Given the description of an element on the screen output the (x, y) to click on. 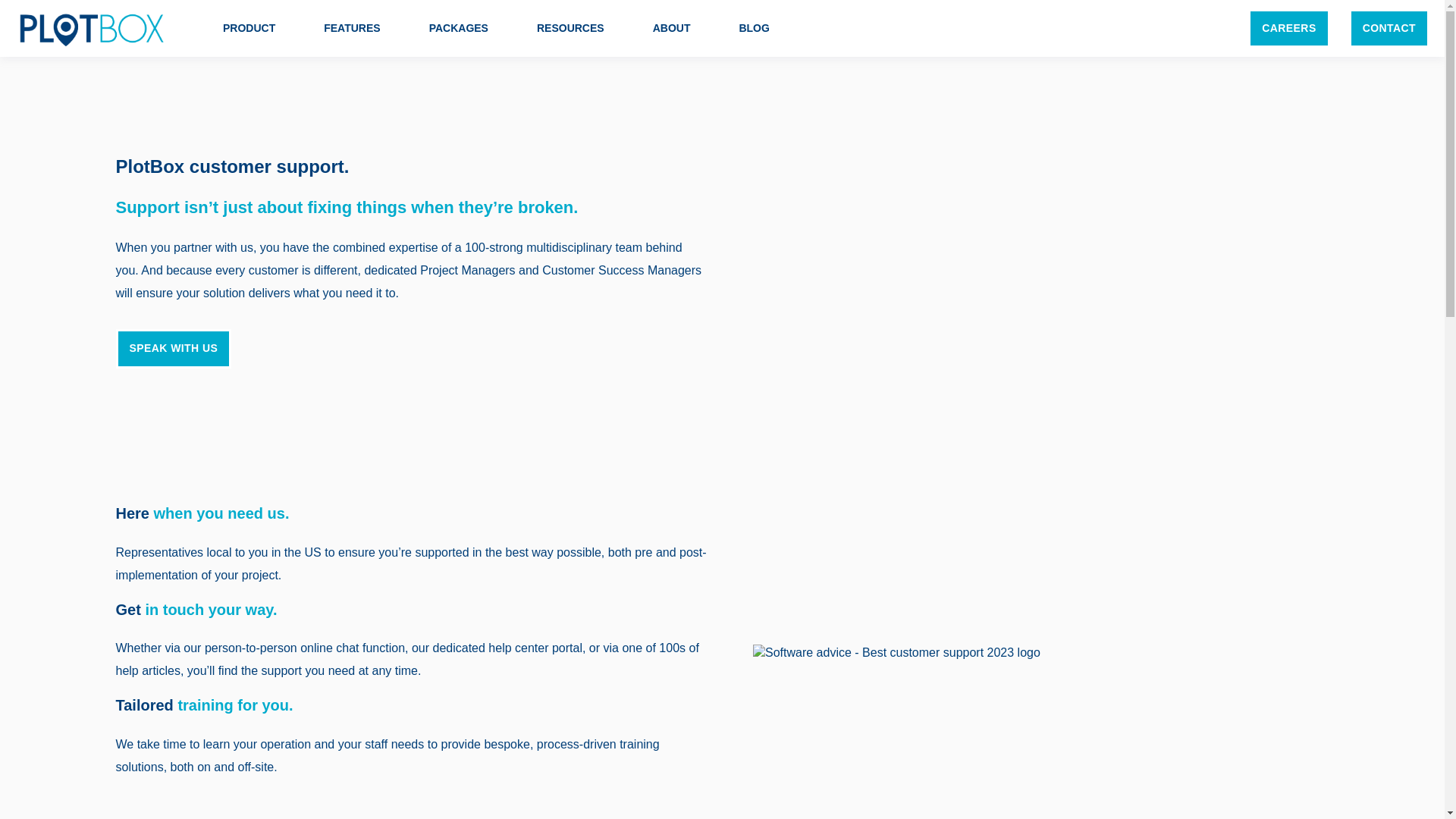
PACKAGES (458, 28)
FEATURES (351, 28)
BLOG (753, 28)
CONTACT (1389, 28)
PRODUCT (248, 28)
RESOURCES (570, 28)
CAREERS (1288, 28)
ABOUT (671, 28)
